Given the description of an element on the screen output the (x, y) to click on. 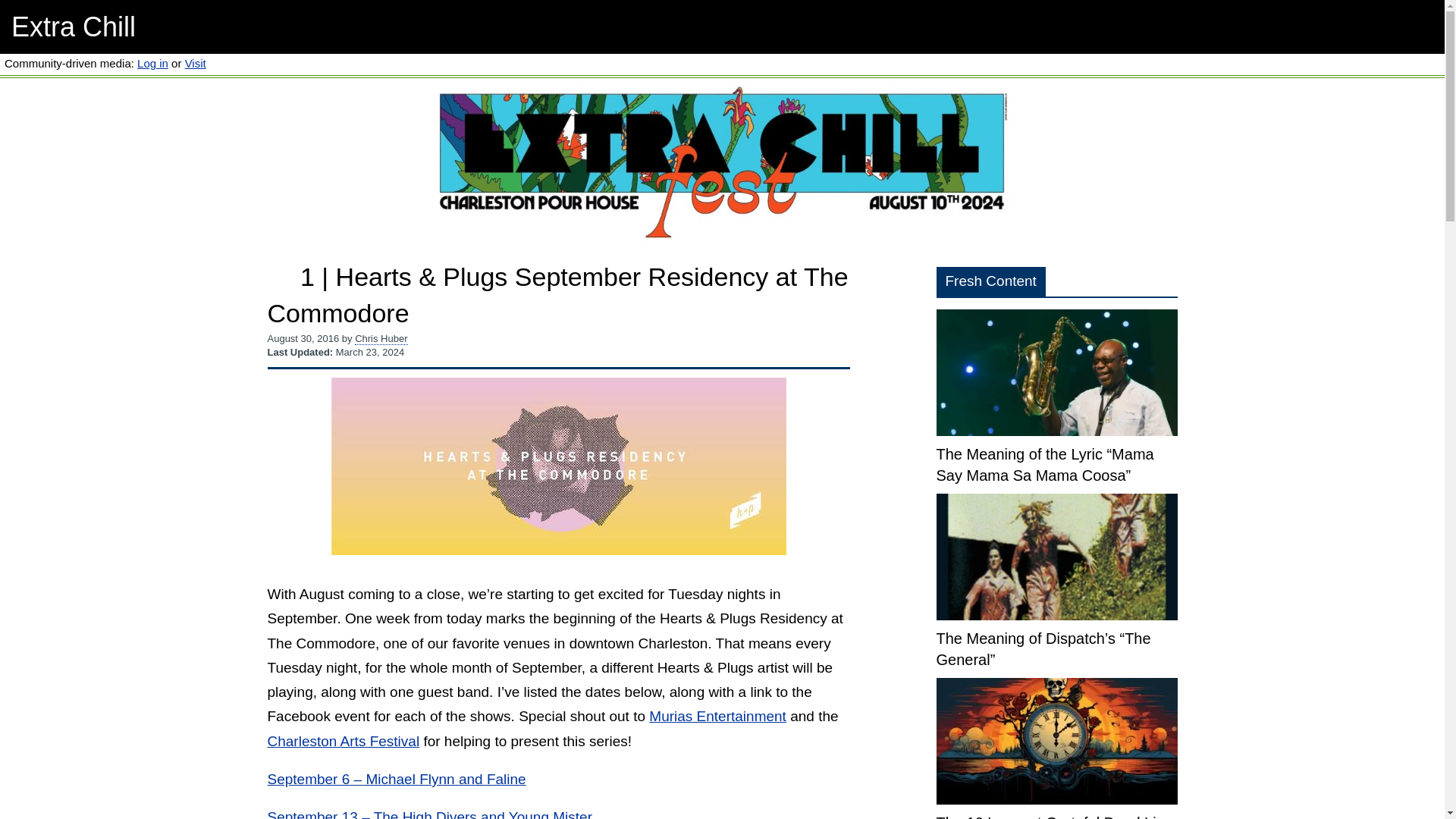
Chris Huber (381, 338)
Log in (152, 62)
Murias Entertainment (717, 715)
Posts by Chris Huber (381, 338)
Charleston Arts Festival (342, 741)
Extra Chill (73, 27)
Visit (195, 62)
